Given the description of an element on the screen output the (x, y) to click on. 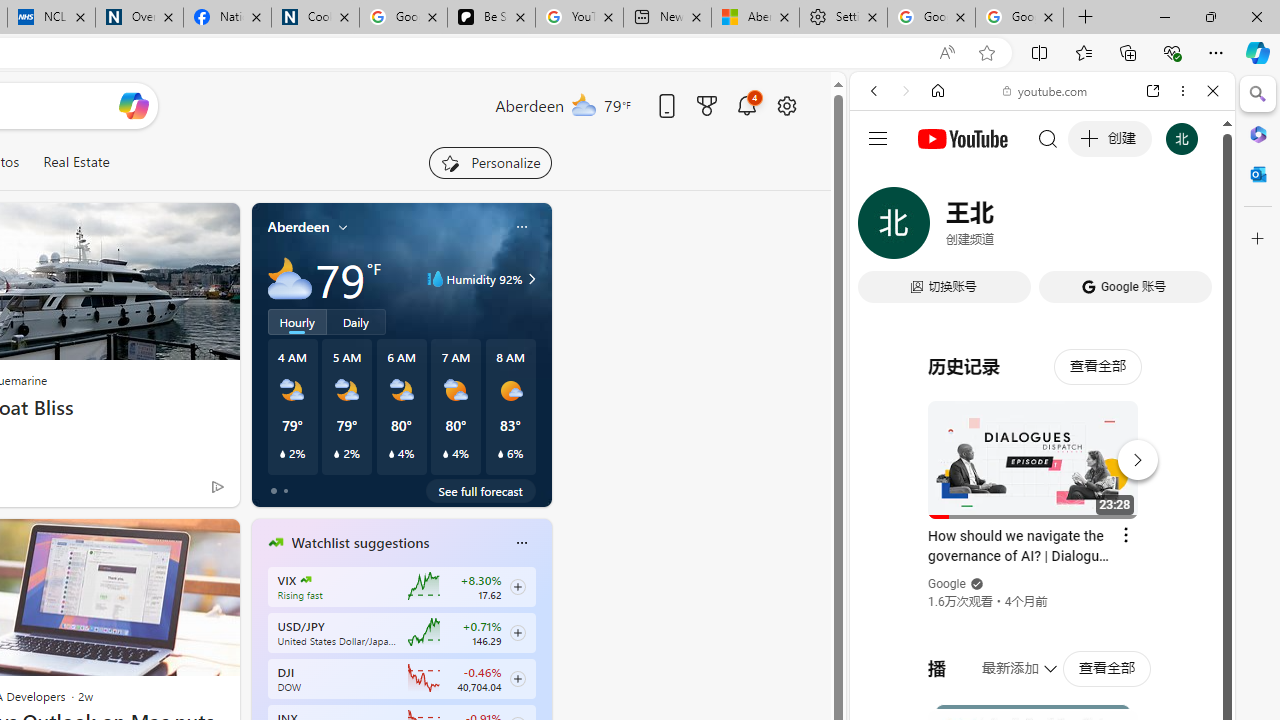
Real Estate (76, 161)
Humidity 92% (529, 278)
Open link in new tab (1153, 91)
Class: icon-img (521, 542)
Hourly (296, 321)
